Given the description of an element on the screen output the (x, y) to click on. 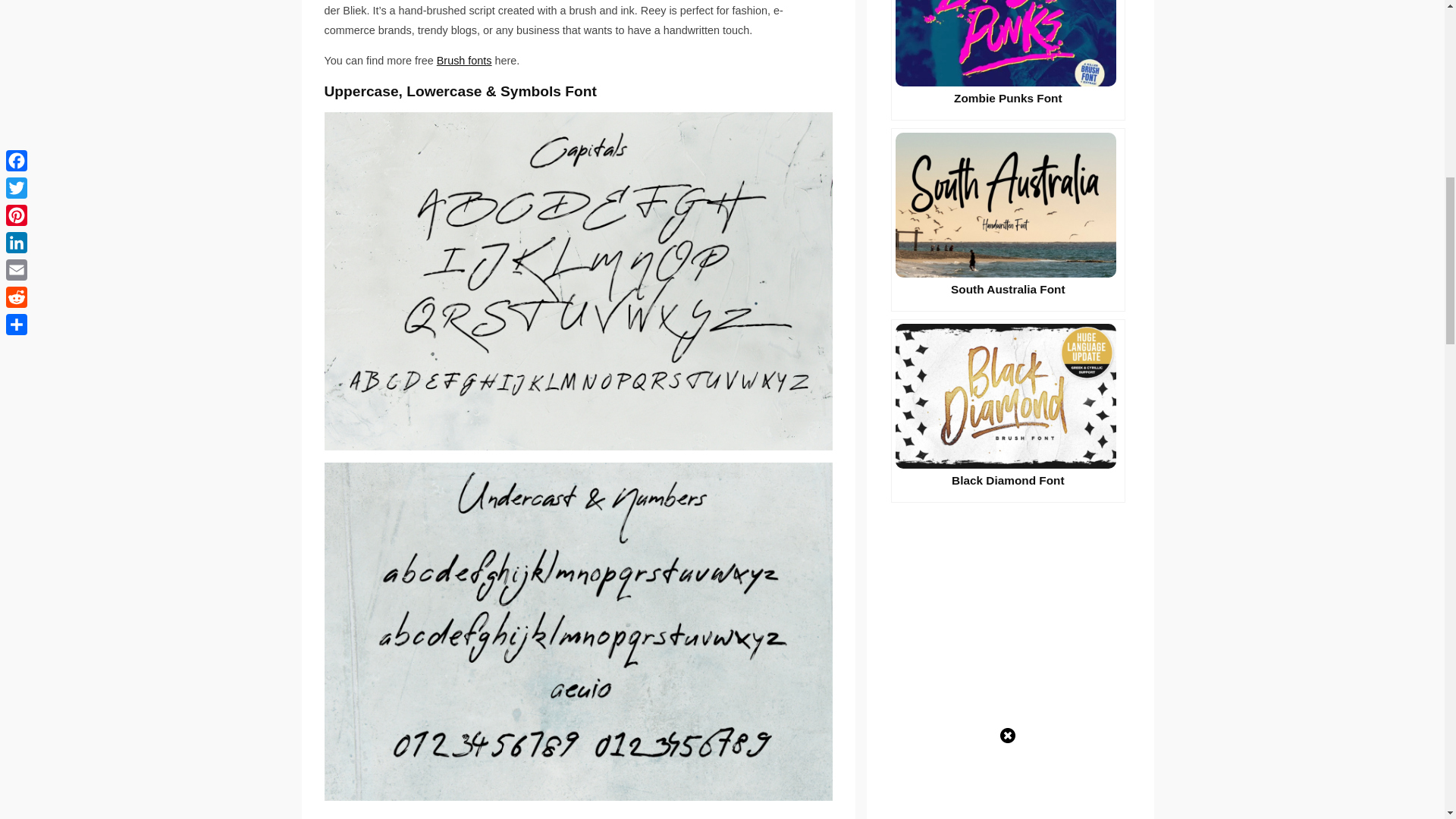
Zombie Punks Font (1008, 60)
Zombie Punks Font (1008, 60)
South Australia Font (1008, 219)
Black Diamond Font (1008, 410)
South Australia Font (1008, 219)
Black Diamond Font (1008, 410)
Brush fonts (464, 60)
